Given the description of an element on the screen output the (x, y) to click on. 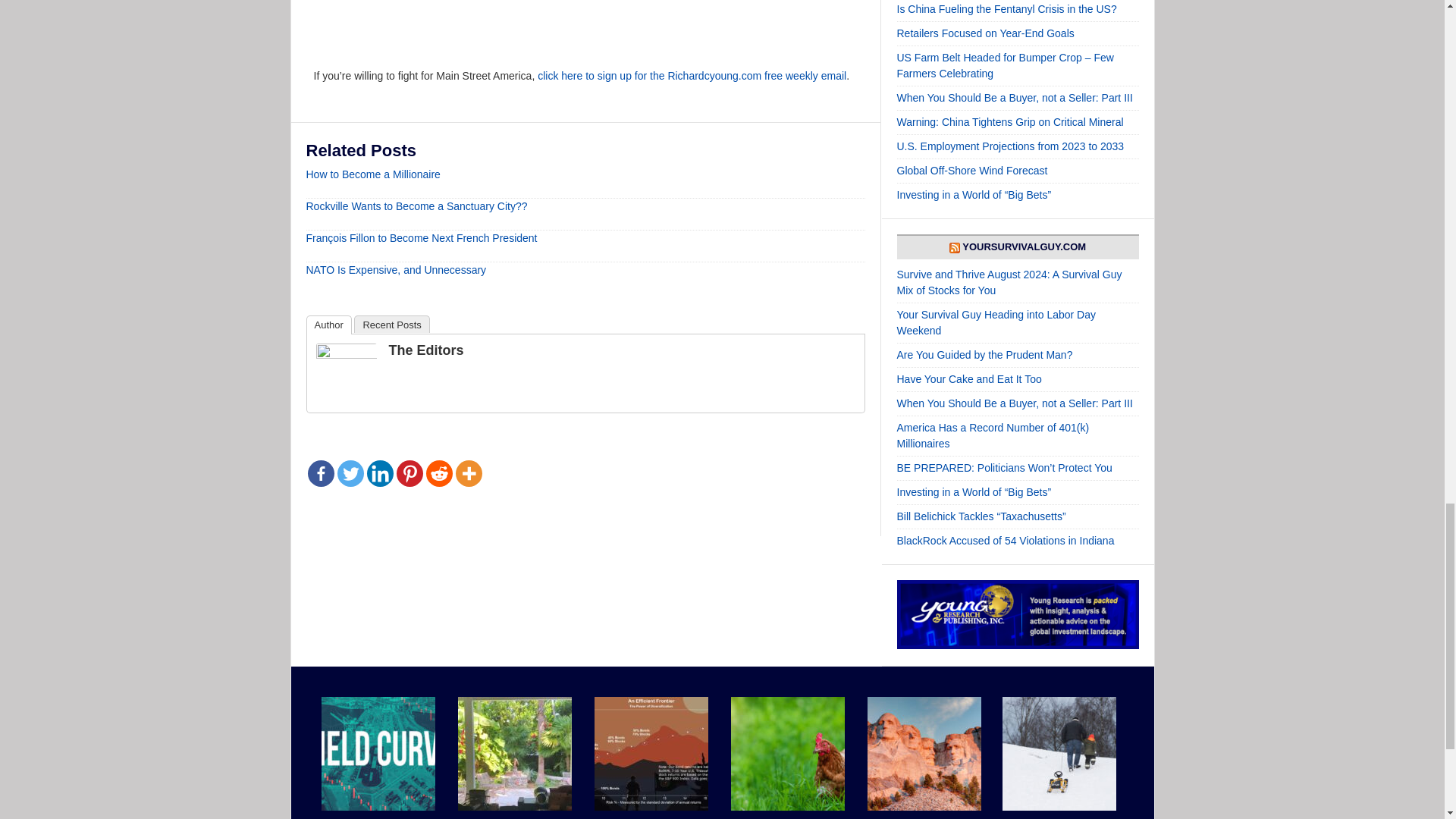
Pinterest (409, 473)
Reddit (439, 473)
Twitter (349, 473)
YouTube video player (526, 24)
Linkedin (379, 473)
How to Become a Millionaire (373, 174)
Facebook (320, 473)
More (467, 473)
